Given the description of an element on the screen output the (x, y) to click on. 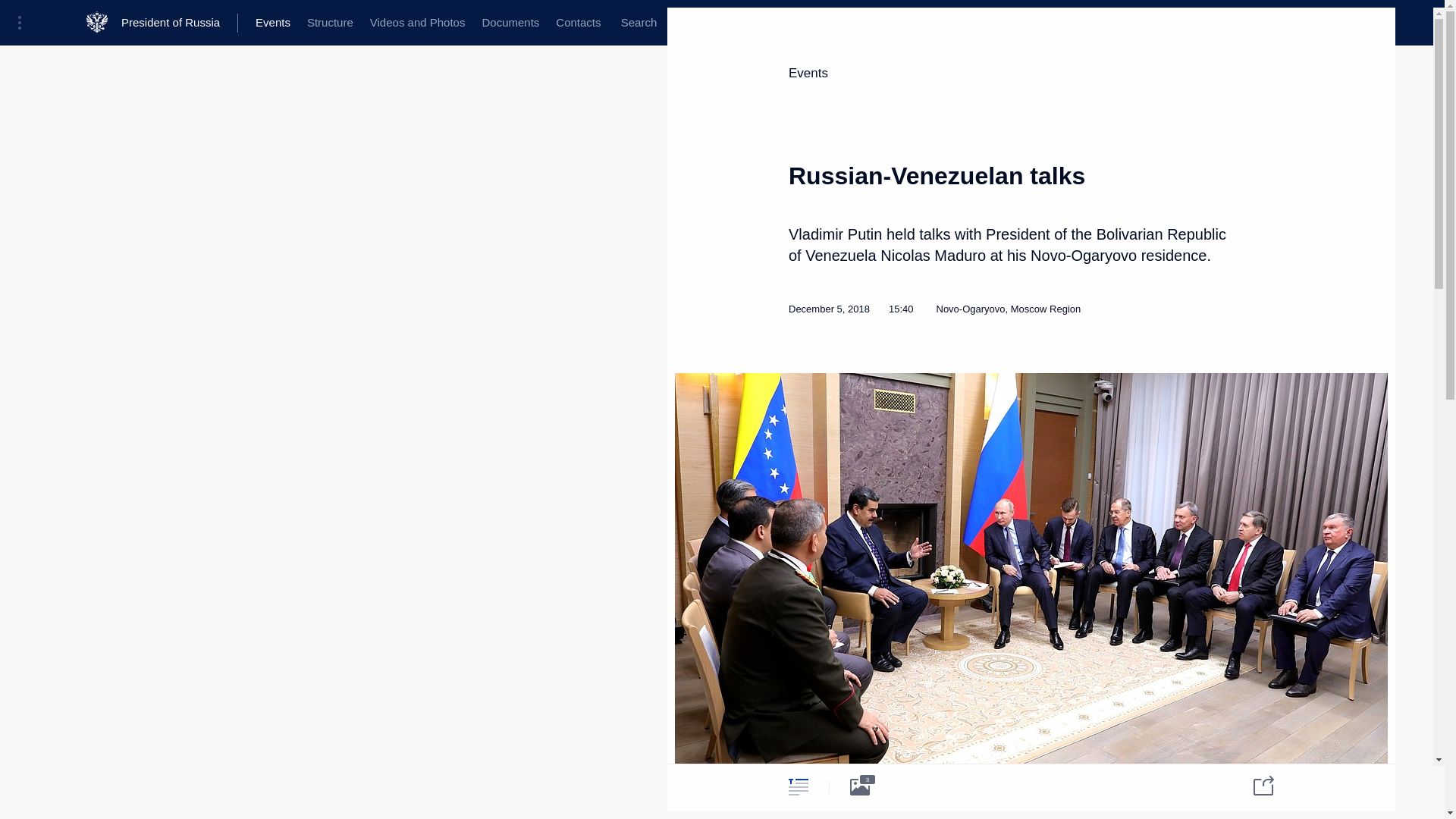
Events (808, 73)
Contacts (577, 22)
Share (1253, 784)
Events (272, 22)
Photo (859, 786)
Text (798, 786)
Global website search (638, 22)
Search (638, 22)
Structure (329, 22)
Videos and Photos (417, 22)
Portal Menu (24, 22)
Documents (510, 22)
President of Russia (179, 22)
